Given the description of an element on the screen output the (x, y) to click on. 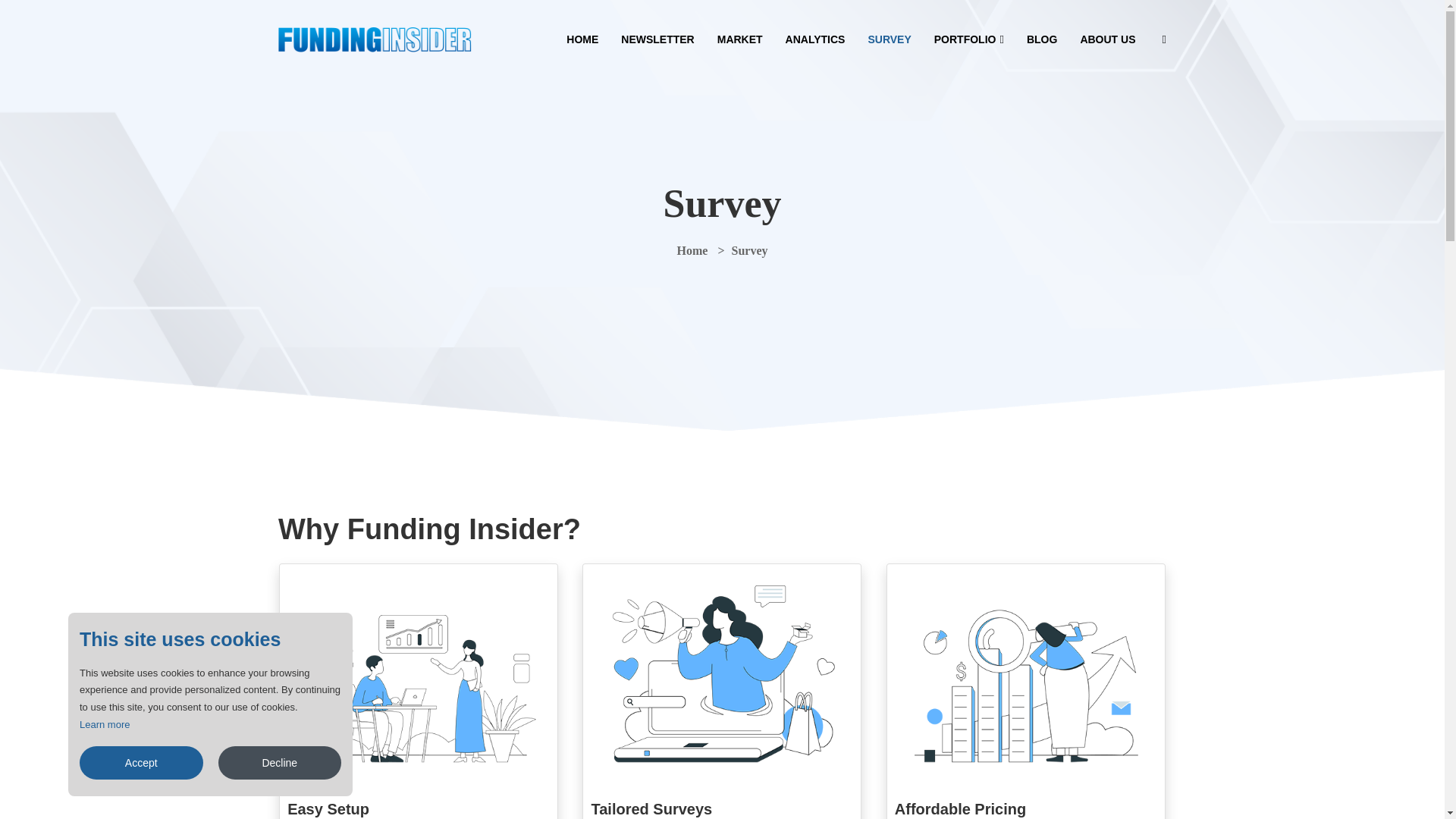
ABOUT US (1107, 39)
NEWSLETTER (657, 39)
PORTFOLIO (968, 39)
ANALYTICS (815, 39)
